Given the description of an element on the screen output the (x, y) to click on. 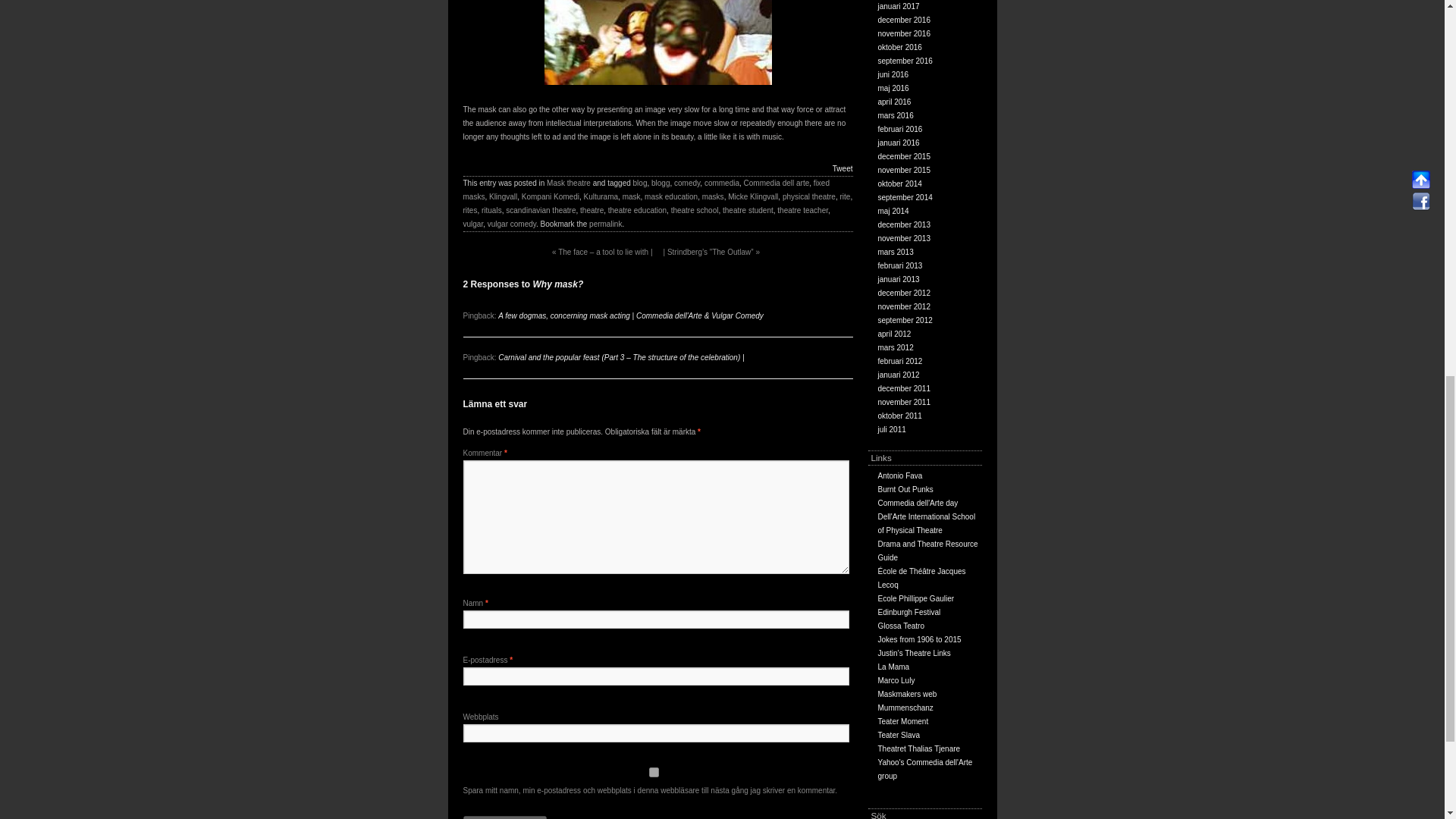
TSCdA04 (657, 42)
THE Fringe festival (908, 612)
The great Swiss mask group (905, 707)
 A link resource site for theatre (913, 653)
Links for maskmakers (907, 694)
yes (653, 772)
The famous theatre in New York (893, 666)
The classic French mime school (921, 577)
Permalink to Why mask? (605, 224)
An Italian company that I have collaborated with. (900, 625)
